Given the description of an element on the screen output the (x, y) to click on. 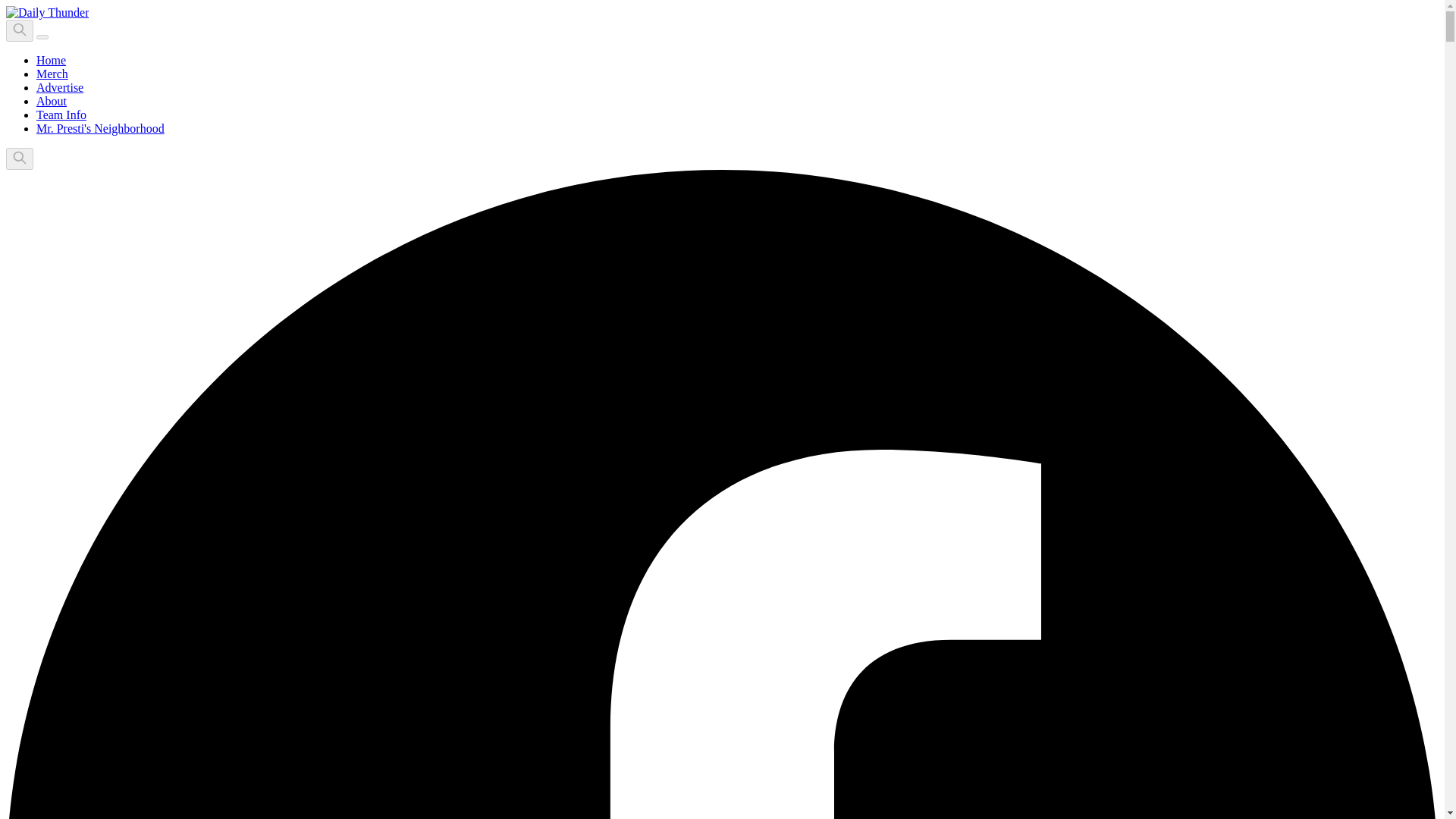
About (51, 101)
Advertise (59, 87)
Home (50, 60)
Team Info (60, 114)
Mr. Presti's Neighborhood (100, 128)
Merch (52, 73)
